Given the description of an element on the screen output the (x, y) to click on. 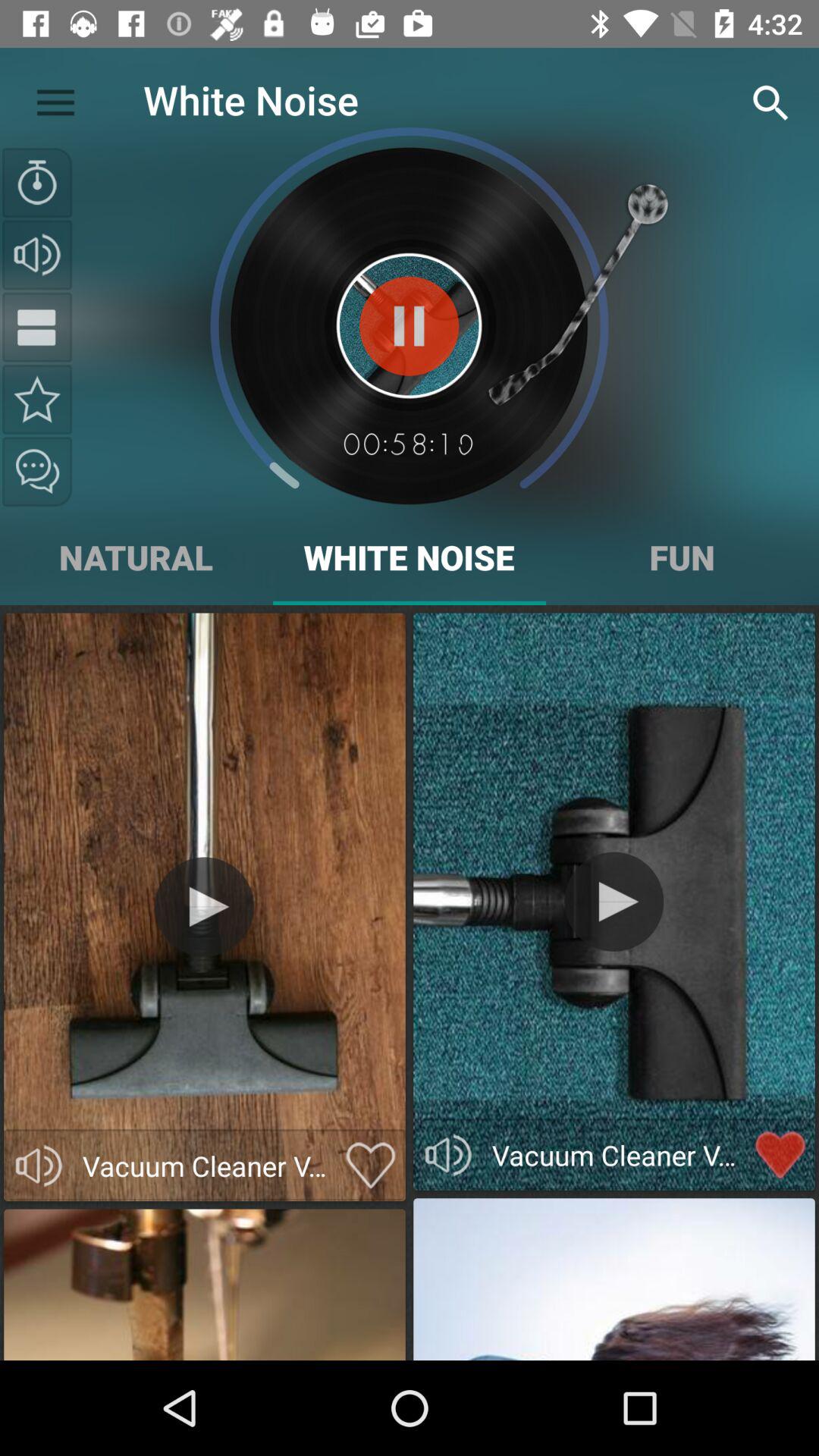
choose app next to white noise app (55, 99)
